Given the description of an element on the screen output the (x, y) to click on. 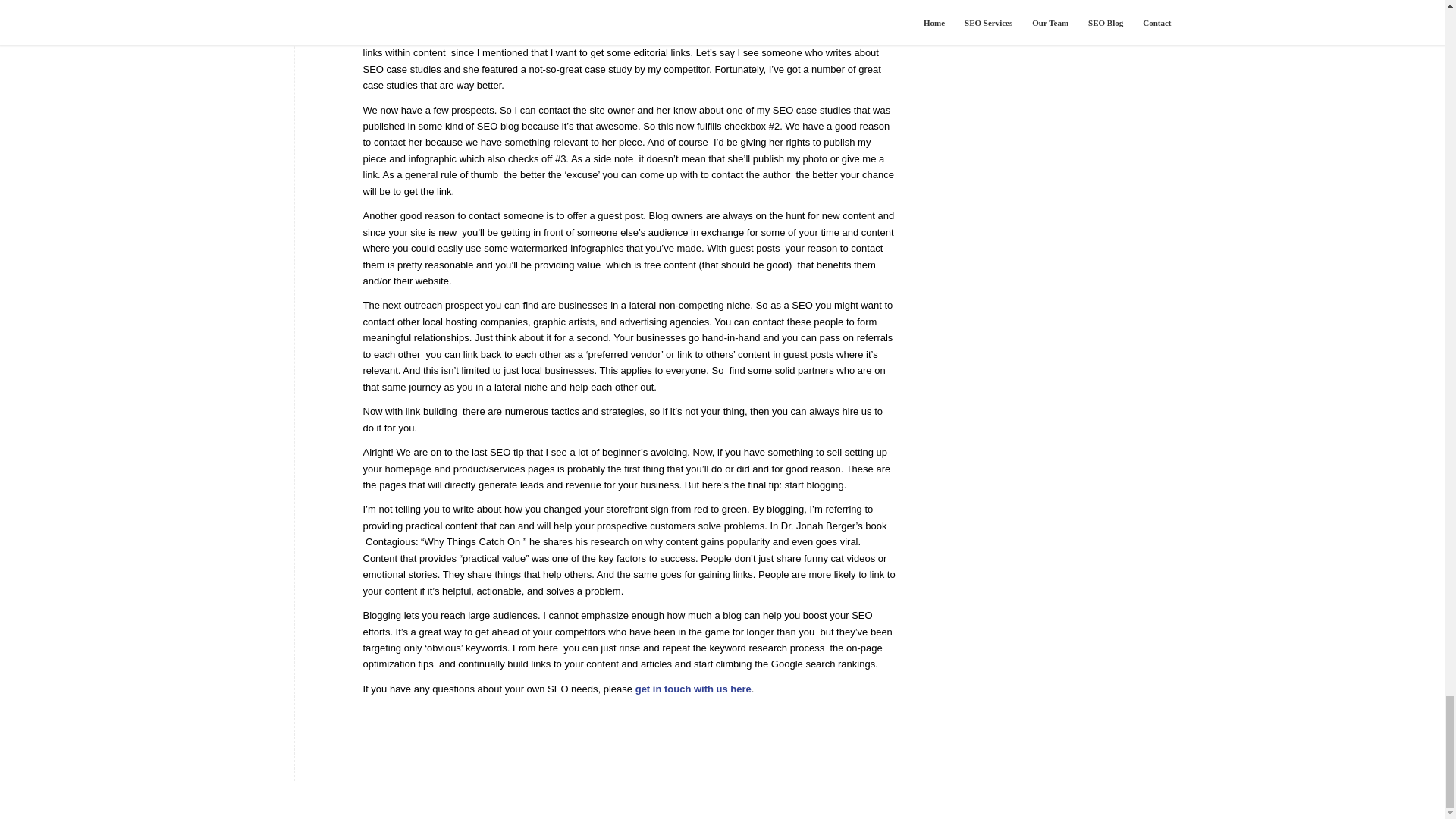
get in touch with us here (692, 688)
